Given the description of an element on the screen output the (x, y) to click on. 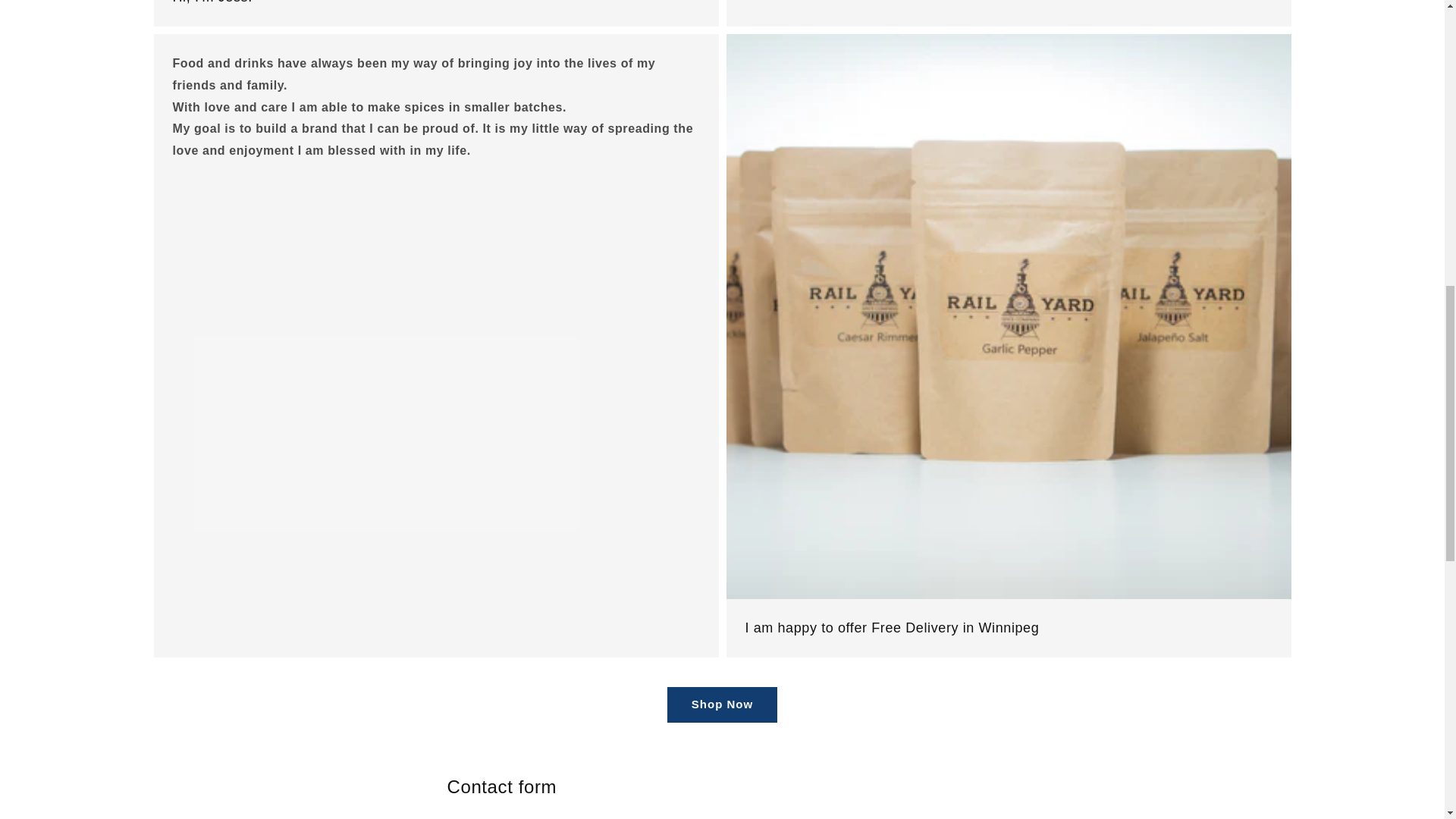
Shop Now (722, 704)
